Given the description of an element on the screen output the (x, y) to click on. 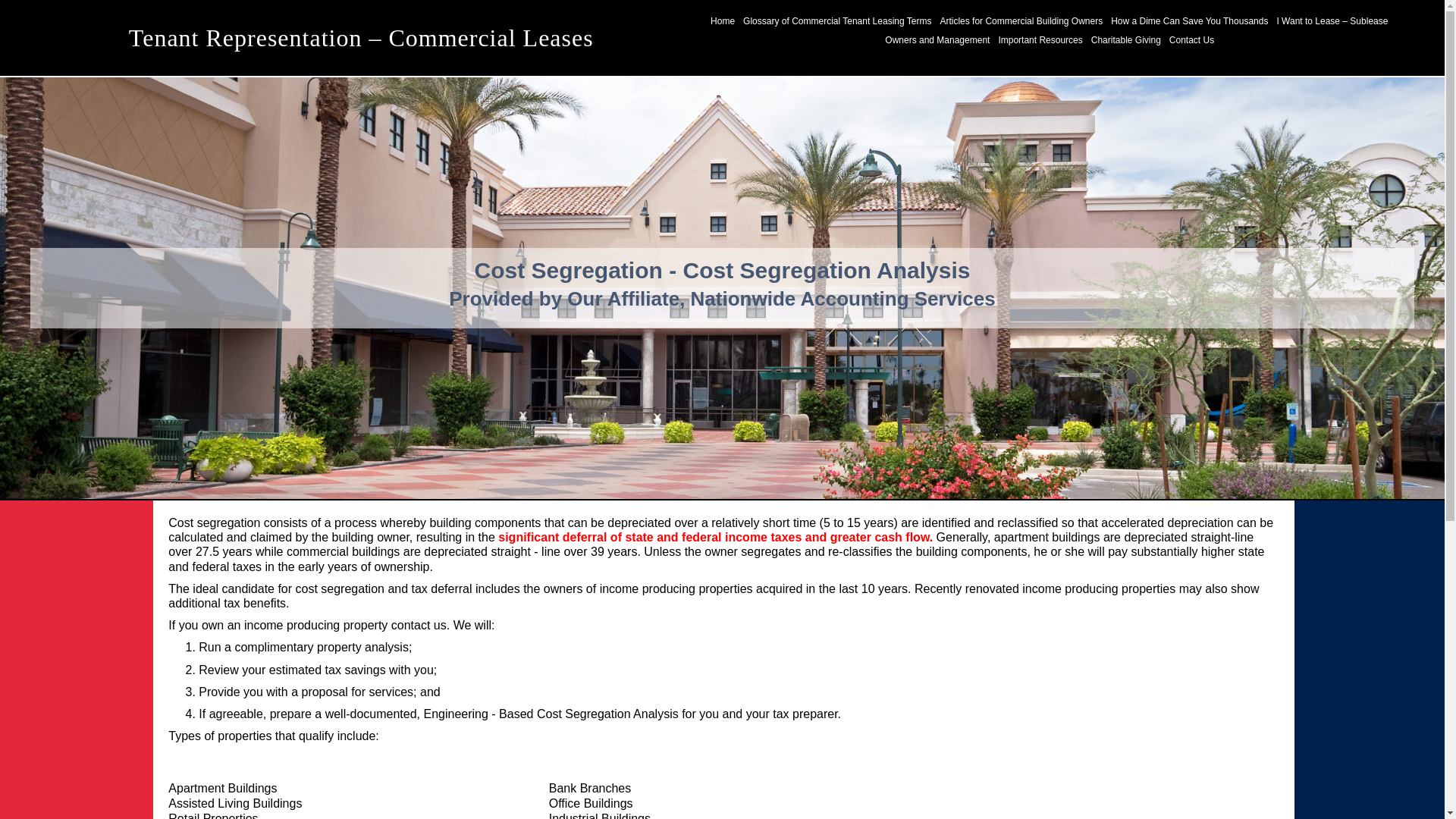
Articles for Commercial Building Owners (1021, 21)
How a Dime Can Save You Thousands (1188, 21)
Contact Us (1191, 39)
Home (722, 21)
Glossary of Commercial Tenant Leasing Terms (836, 21)
Important Resources (1040, 39)
Owners and Management (936, 39)
Charitable Giving (1125, 39)
